Given the description of an element on the screen output the (x, y) to click on. 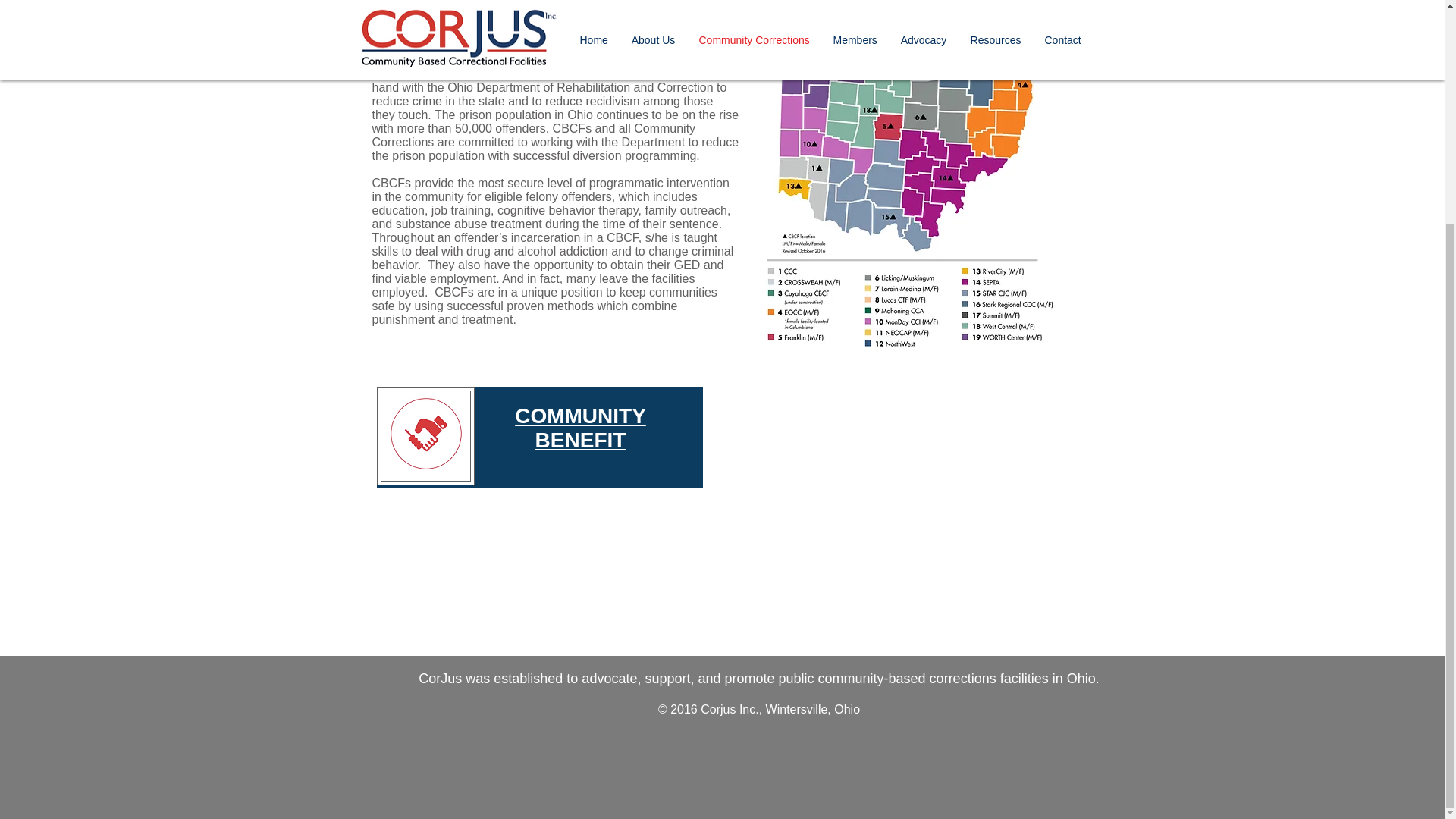
COMMUNITY BENEFIT (580, 428)
Screen Shot 2016-09-09 at 1.47.37 PM.png (424, 435)
Screen Shot 2016-09-09 at 1.47.37 PM.png (424, 435)
